Given the description of an element on the screen output the (x, y) to click on. 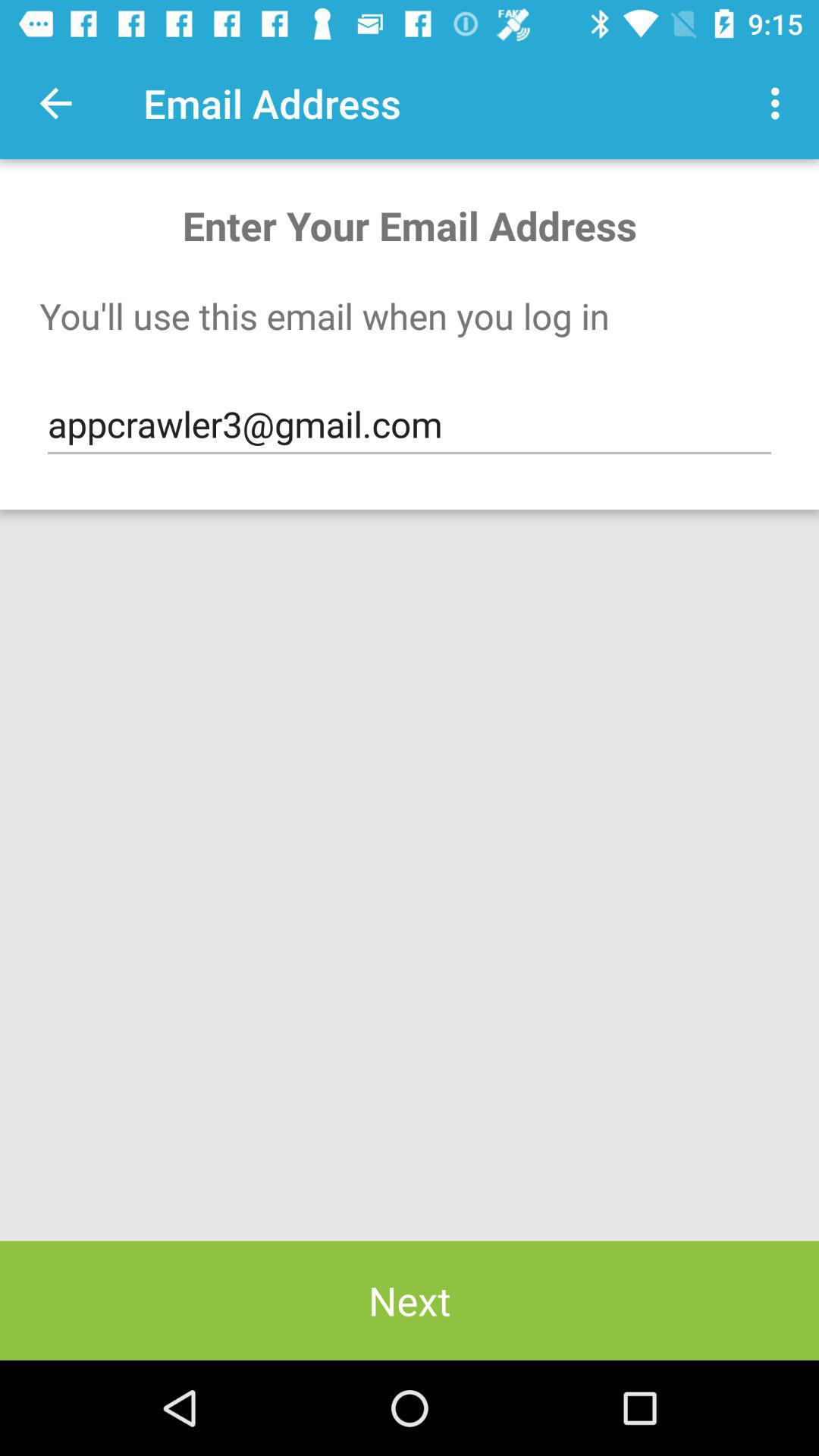
click item to the left of email address (55, 103)
